Given the description of an element on the screen output the (x, y) to click on. 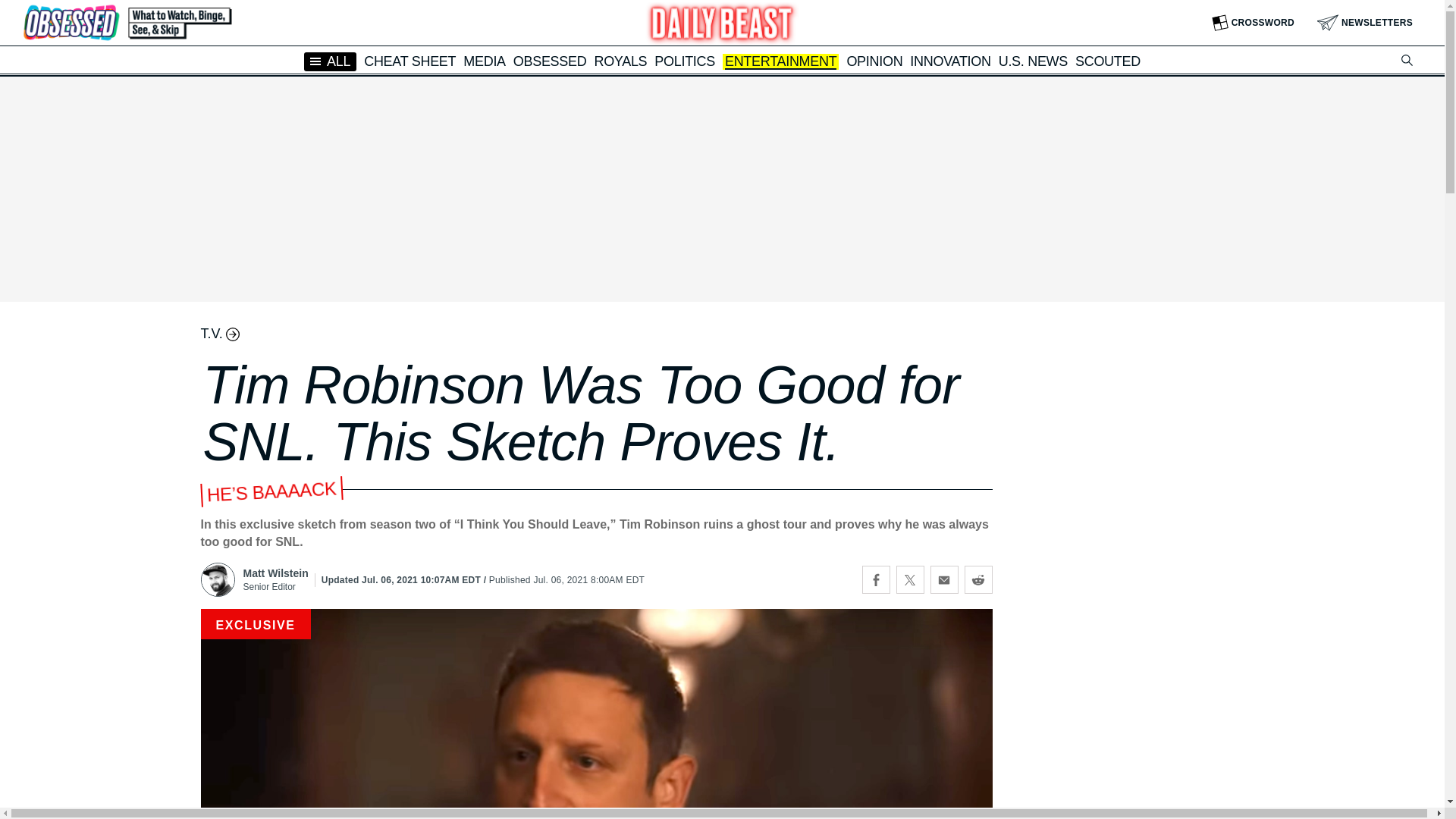
NEWSLETTERS (1364, 22)
INNOVATION (950, 60)
CHEAT SHEET (409, 60)
OPINION (873, 60)
MEDIA (484, 60)
ENTERTAINMENT (780, 61)
POLITICS (683, 60)
ROYALS (620, 60)
OBSESSED (549, 60)
ALL (330, 60)
